Given the description of an element on the screen output the (x, y) to click on. 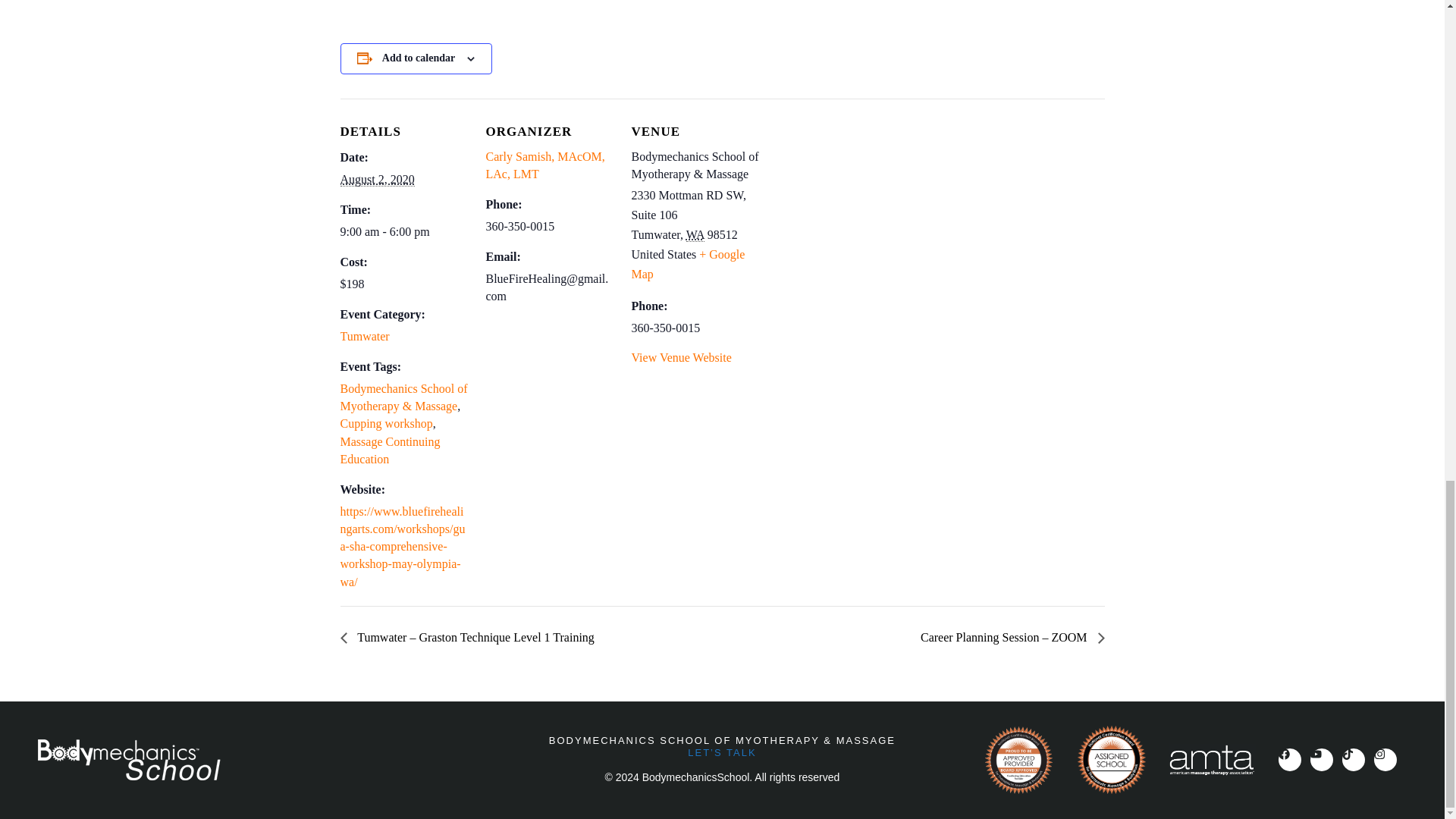
Carly Samish, MAcOM, LAc, LMT (544, 164)
Click to view a Google Map (687, 264)
2020-08-02 (403, 231)
2020-08-02 (376, 179)
Washington (694, 234)
